Given the description of an element on the screen output the (x, y) to click on. 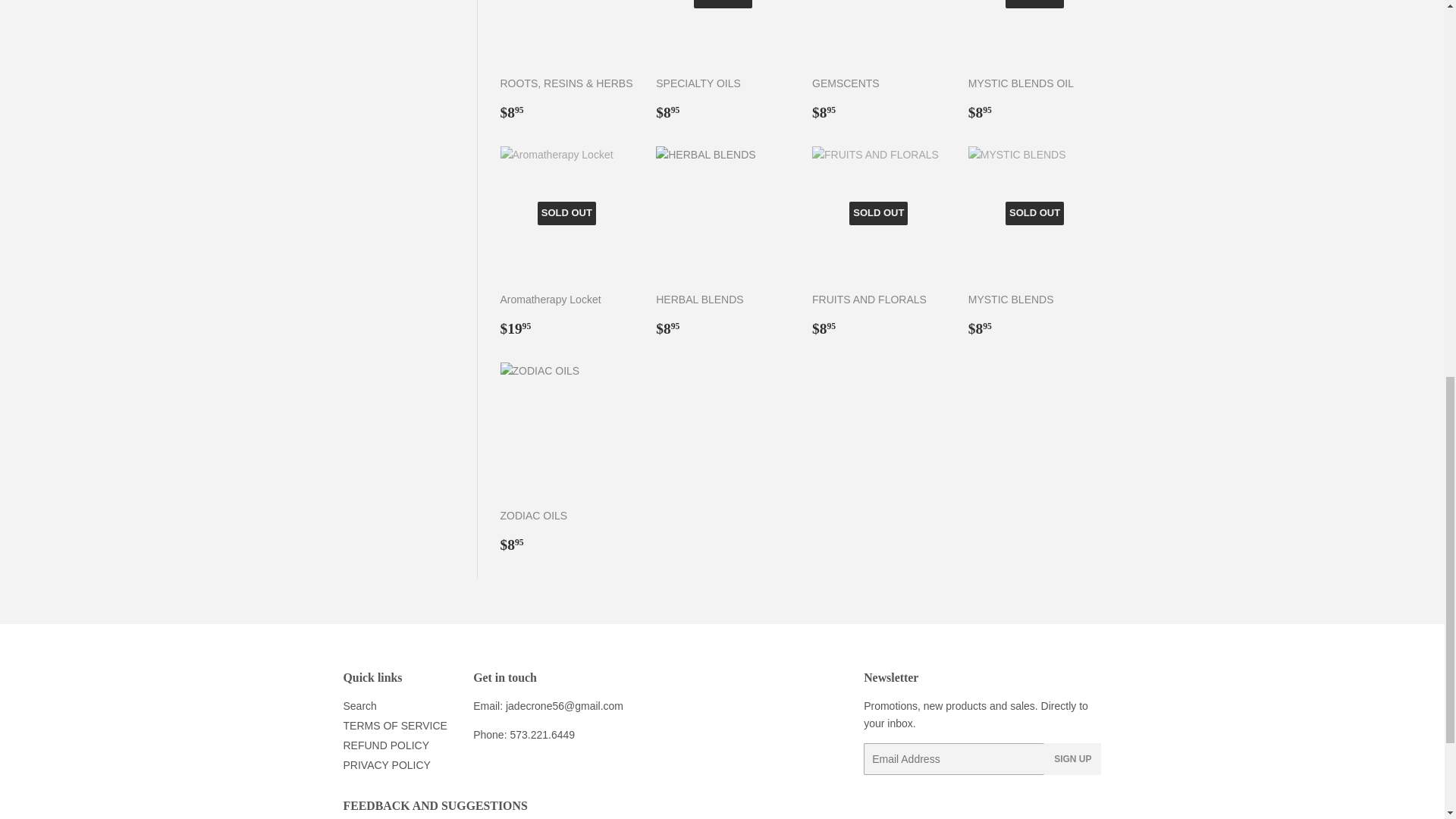
Search (358, 705)
SIGN UP (1071, 758)
REFUND POLICY (385, 745)
TERMS OF SERVICE (394, 725)
PRIVACY POLICY (385, 765)
